Given the description of an element on the screen output the (x, y) to click on. 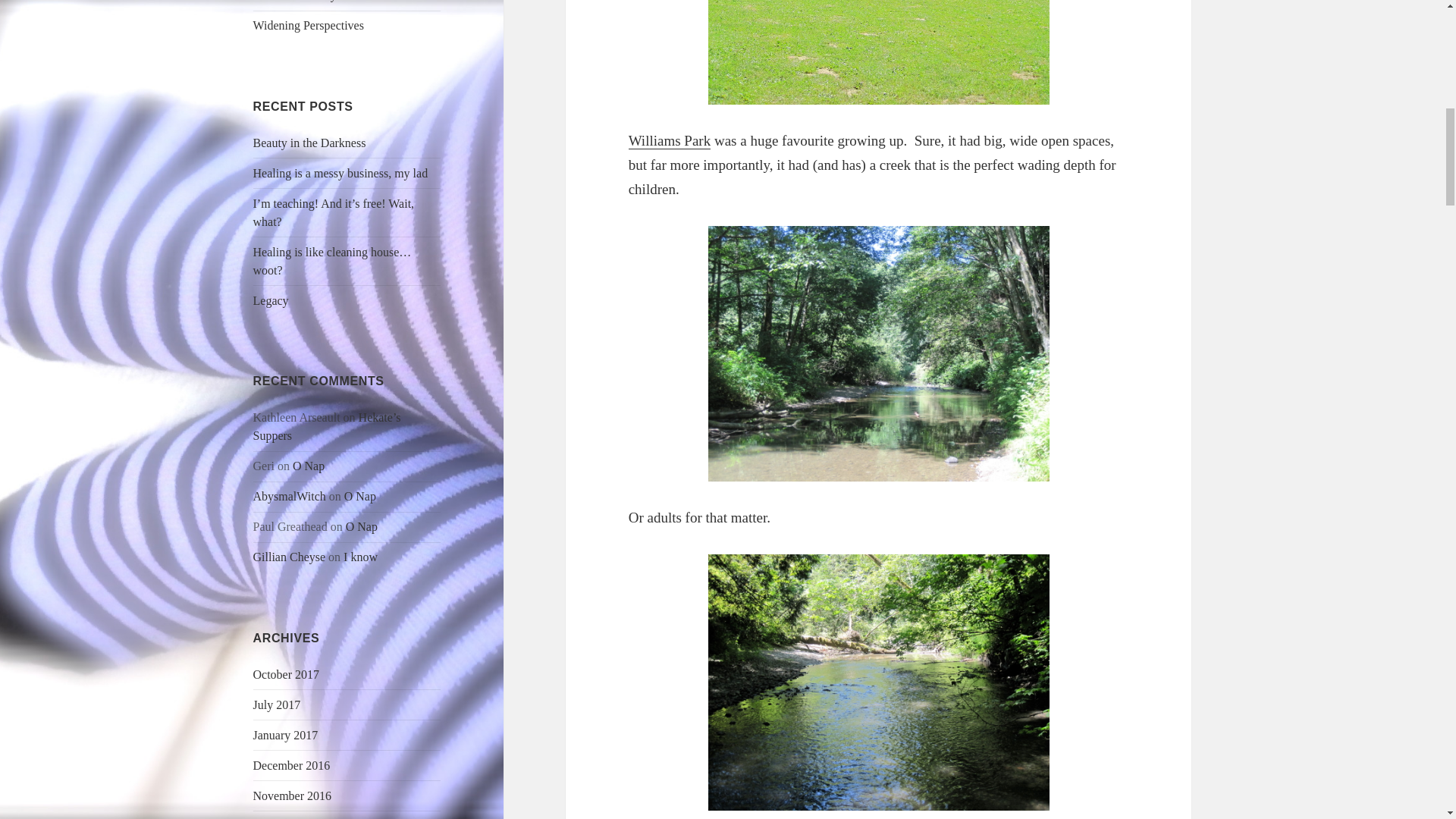
1007 will-creek (878, 354)
Those Other Days (296, 0)
December 2016 (291, 765)
Legacy (270, 300)
January 2017 (285, 735)
1007 will-park (878, 52)
O Nap (361, 526)
I know (360, 556)
Gillian Cheyse (289, 556)
AbysmalWitch (289, 495)
1007 will-creek with me in it (878, 682)
Beauty in the Darkness (309, 142)
October 2017 (286, 674)
O Nap (308, 465)
O Nap (359, 495)
